Given the description of an element on the screen output the (x, y) to click on. 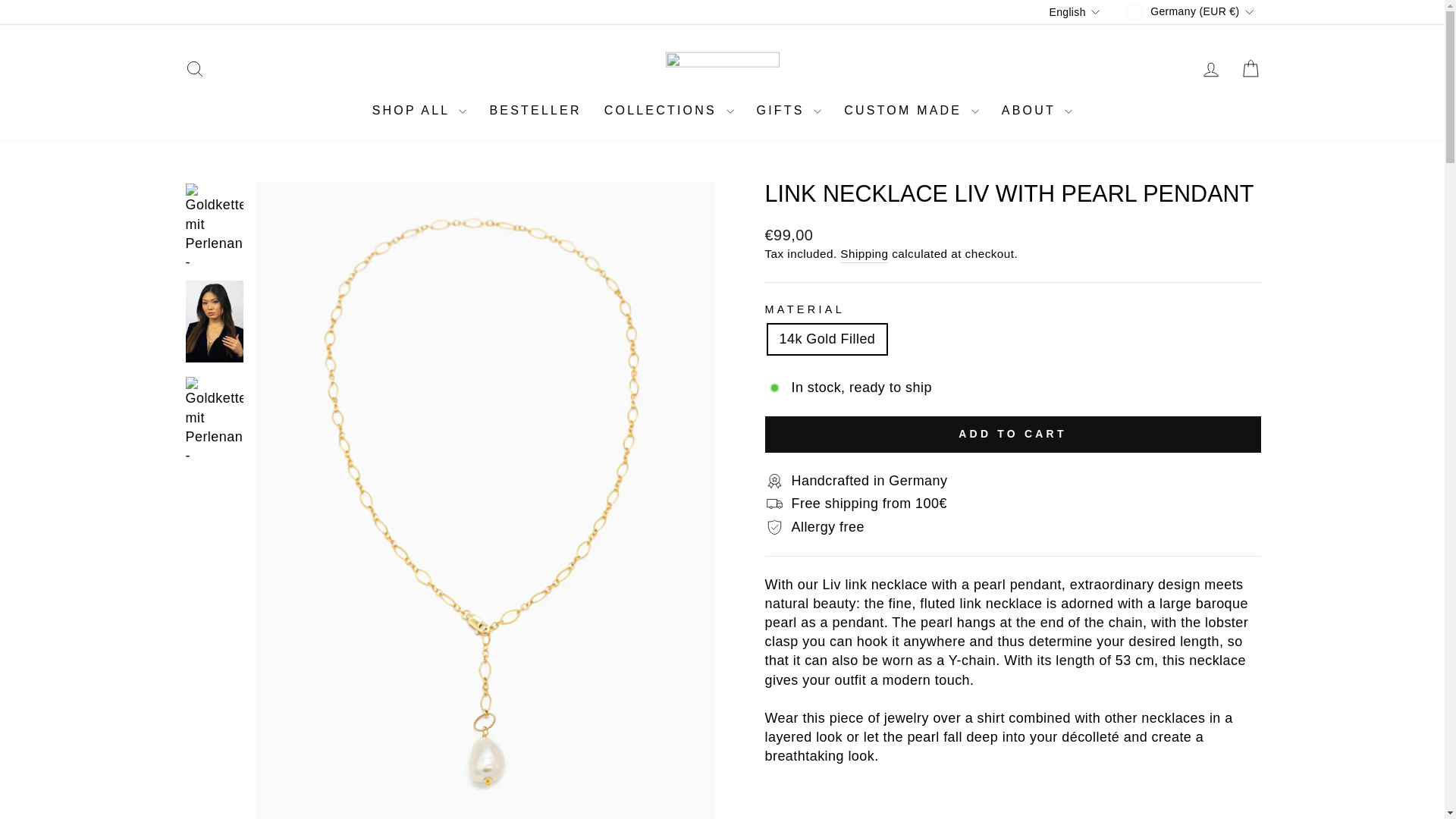
ICON-SEARCH (194, 68)
ACCOUNT (1210, 69)
